Given the description of an element on the screen output the (x, y) to click on. 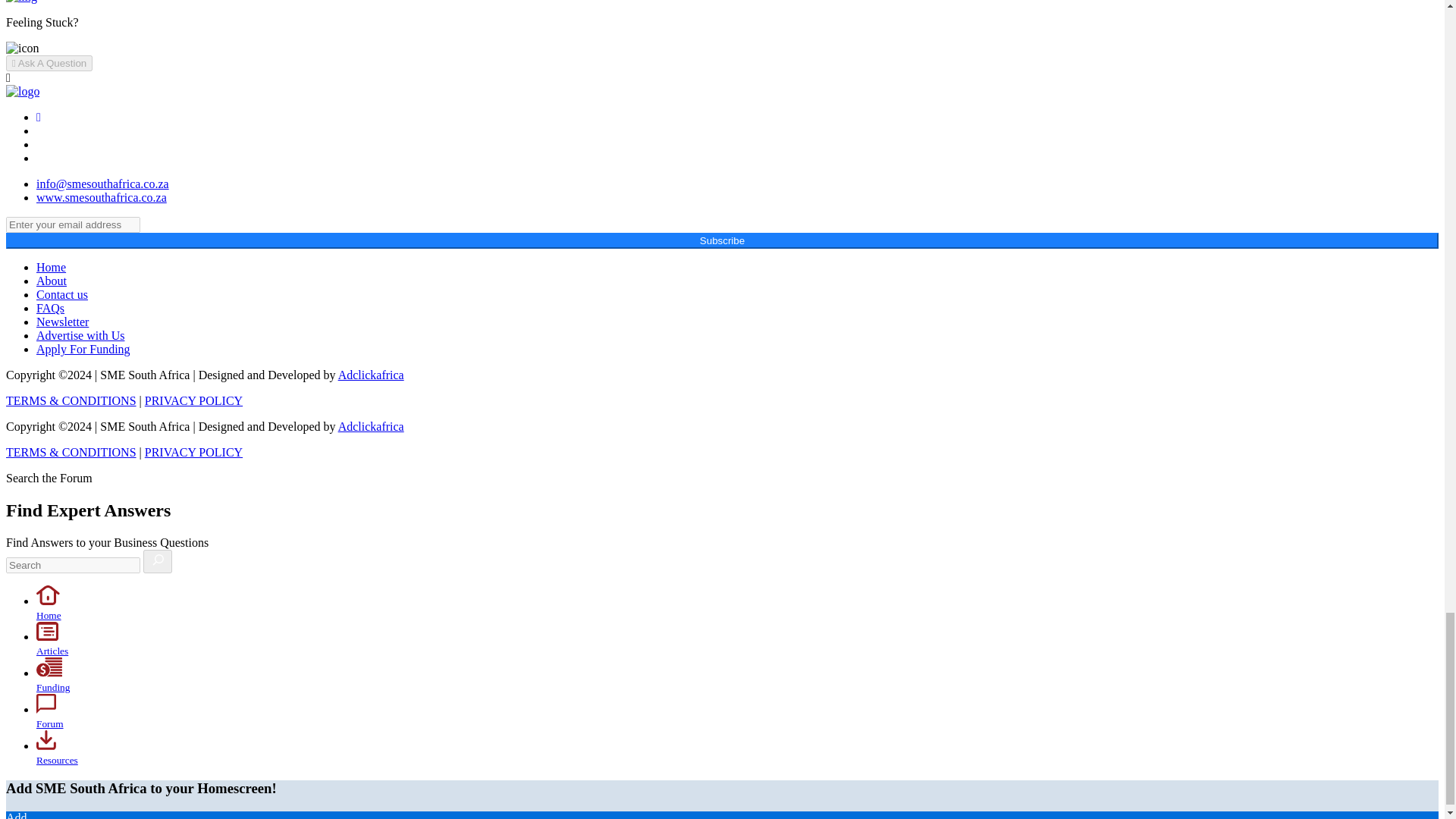
Ask A Question (49, 63)
